Given the description of an element on the screen output the (x, y) to click on. 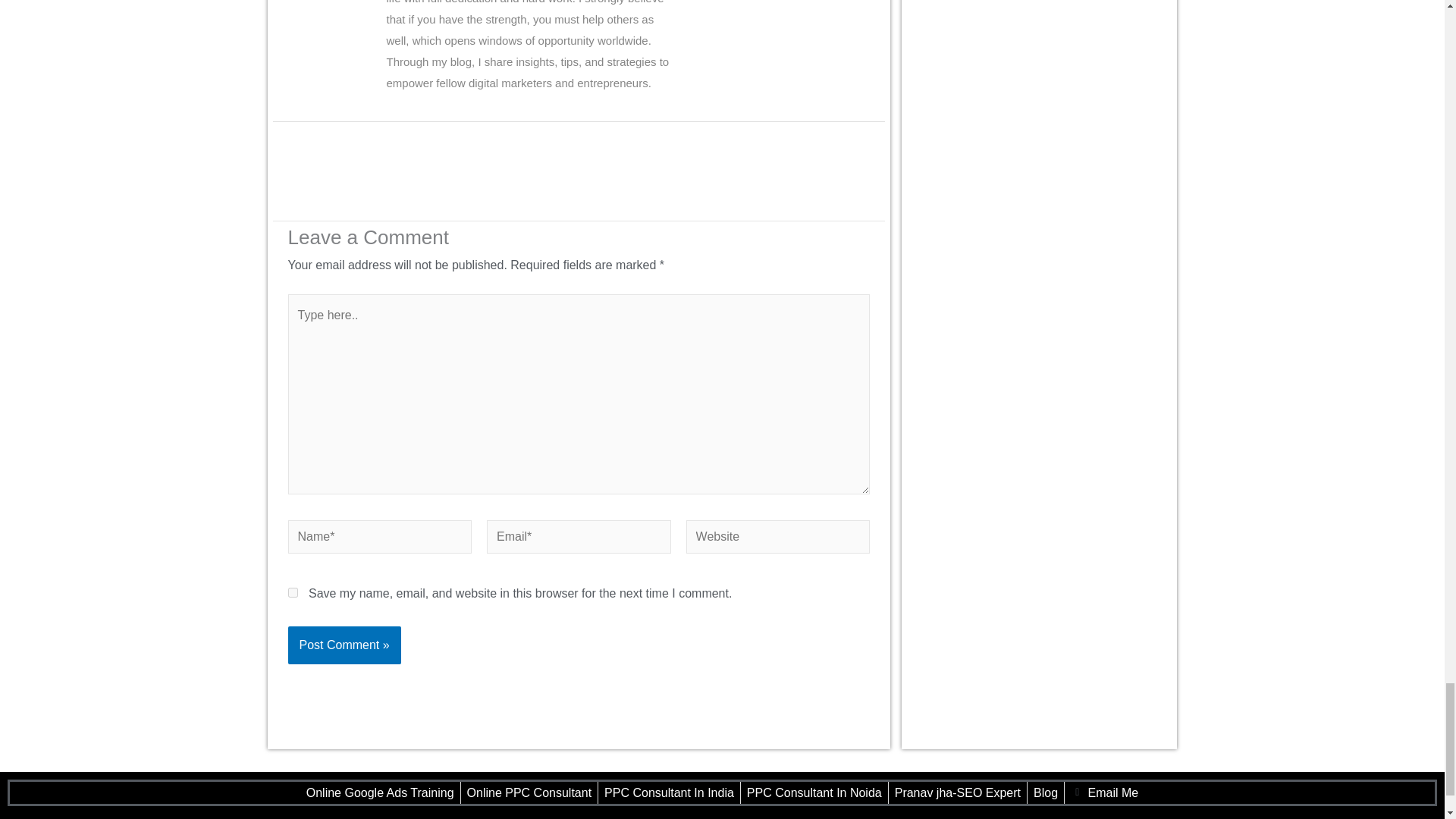
yes (293, 592)
